Given the description of an element on the screen output the (x, y) to click on. 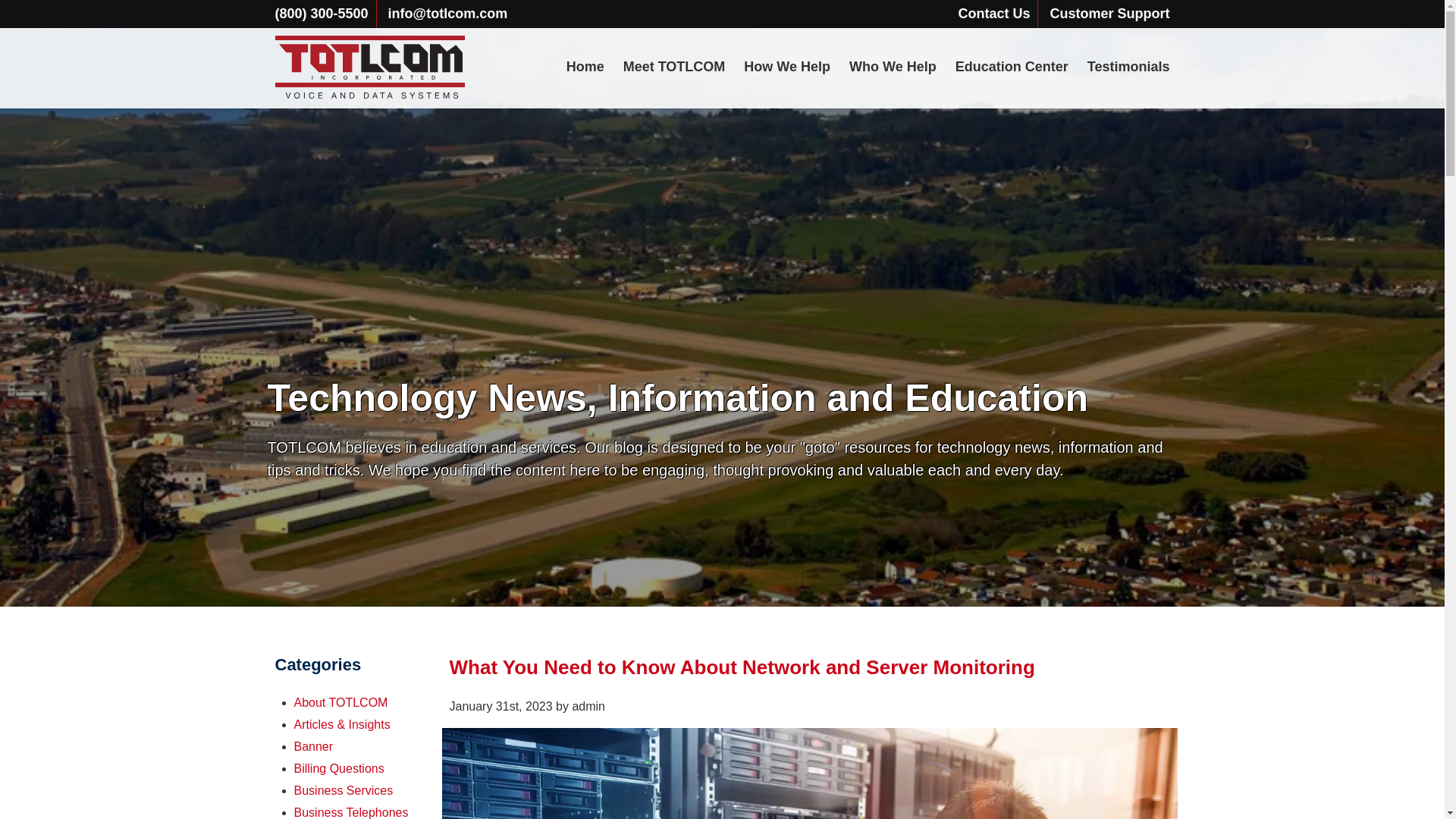
Business Services (343, 789)
Contact Us (993, 13)
Customer Support (1109, 13)
About TOTLCOM (341, 702)
Testimonials (1128, 67)
Home (585, 67)
Education Center (1011, 67)
How We Help (786, 67)
Meet TOTLCOM (674, 67)
Business Telephones (351, 812)
